Given the description of an element on the screen output the (x, y) to click on. 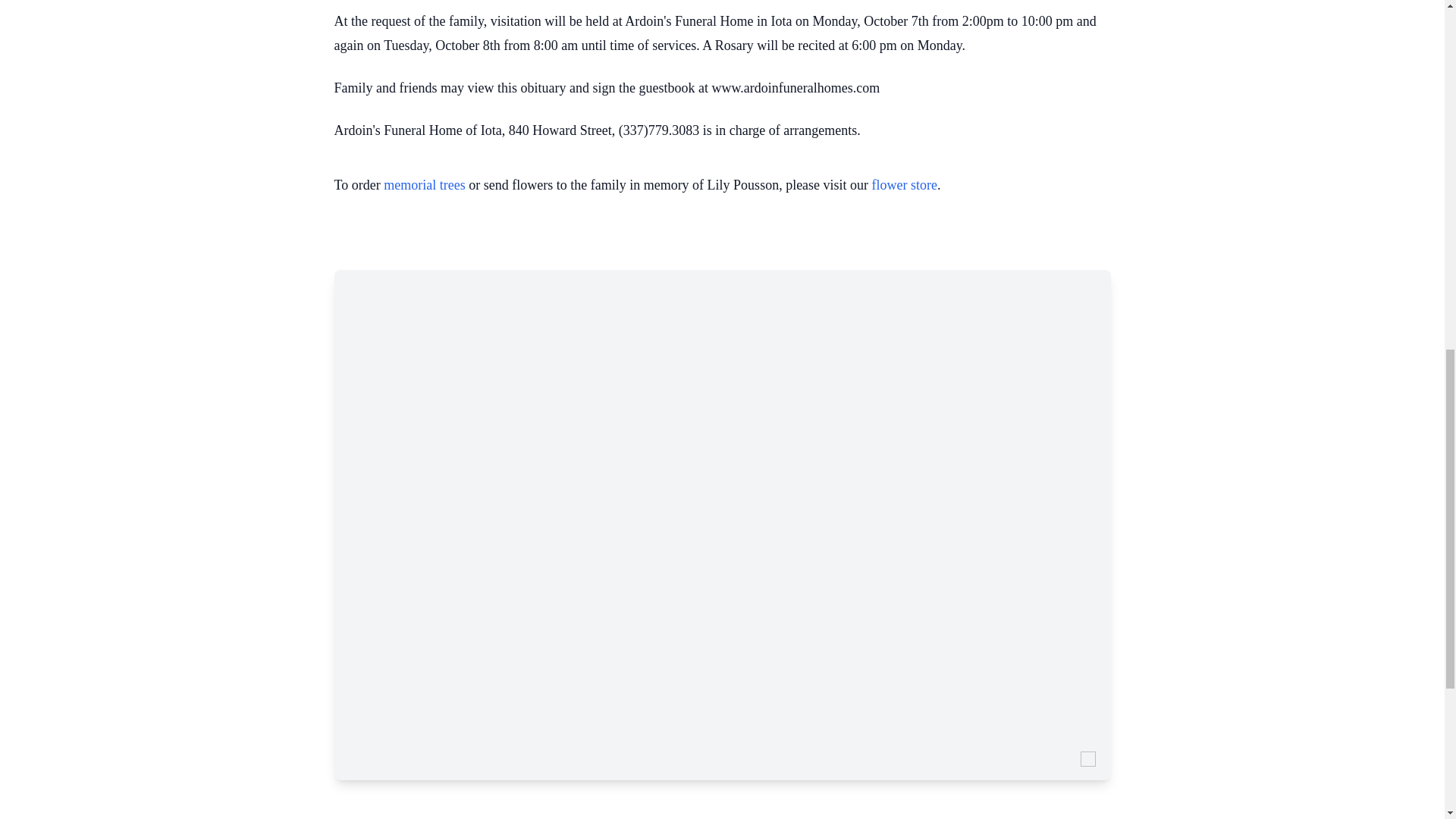
memorial trees (424, 184)
flower store (904, 184)
